Given the description of an element on the screen output the (x, y) to click on. 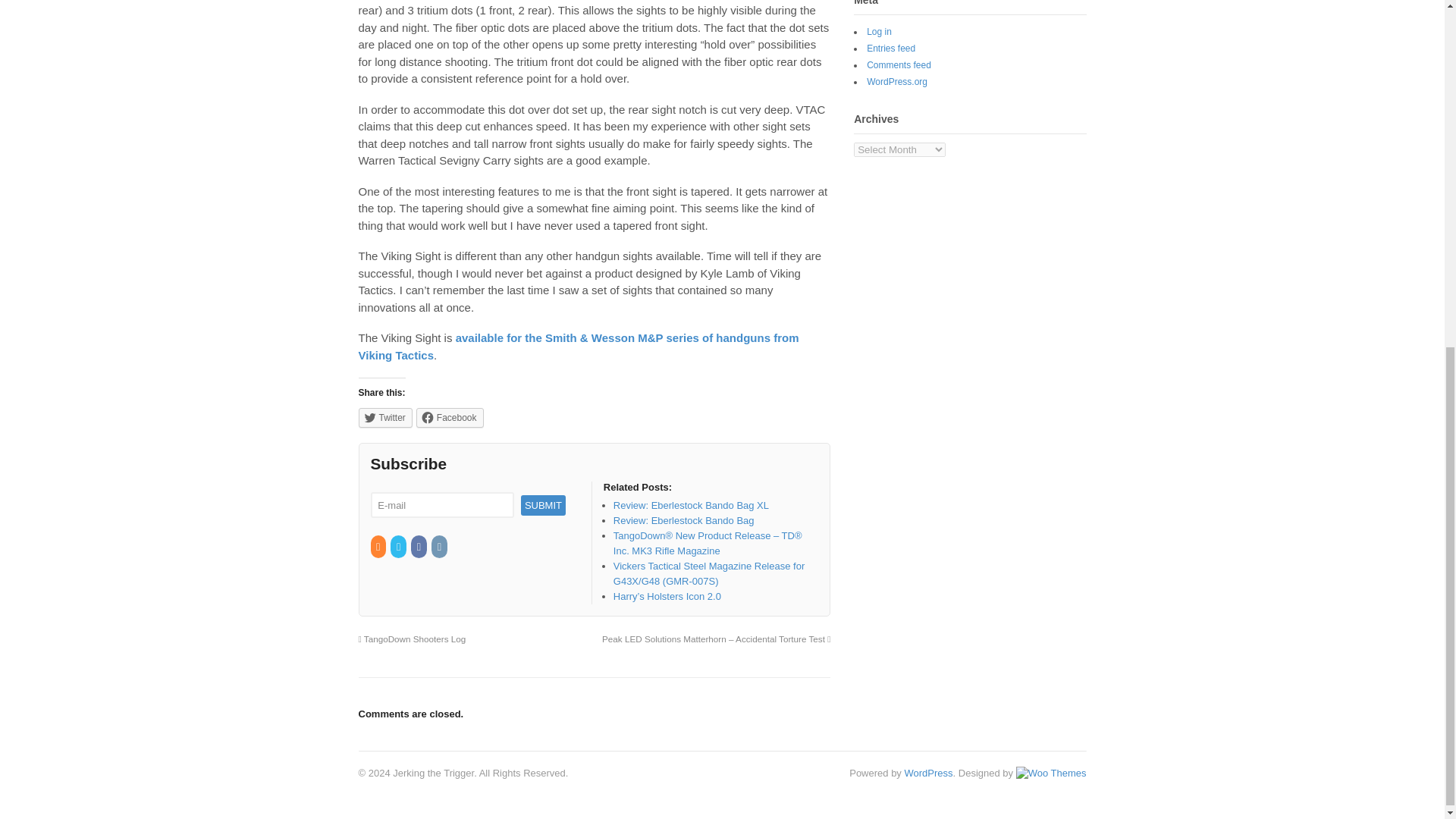
Twitter (398, 546)
Instagram (439, 546)
Facebook (449, 417)
RSS (378, 546)
Review: Eberlestock Bando Bag (683, 520)
Review: Eberlestock Bando Bag XL (690, 505)
Submit (543, 505)
Click to share on Facebook (449, 417)
Review: Eberlestock Bando Bag (683, 520)
TangoDown Shooters Log (411, 638)
Twitter (385, 417)
E-mail (441, 505)
Submit (543, 505)
Click to share on Twitter (385, 417)
Facebook (419, 546)
